Given the description of an element on the screen output the (x, y) to click on. 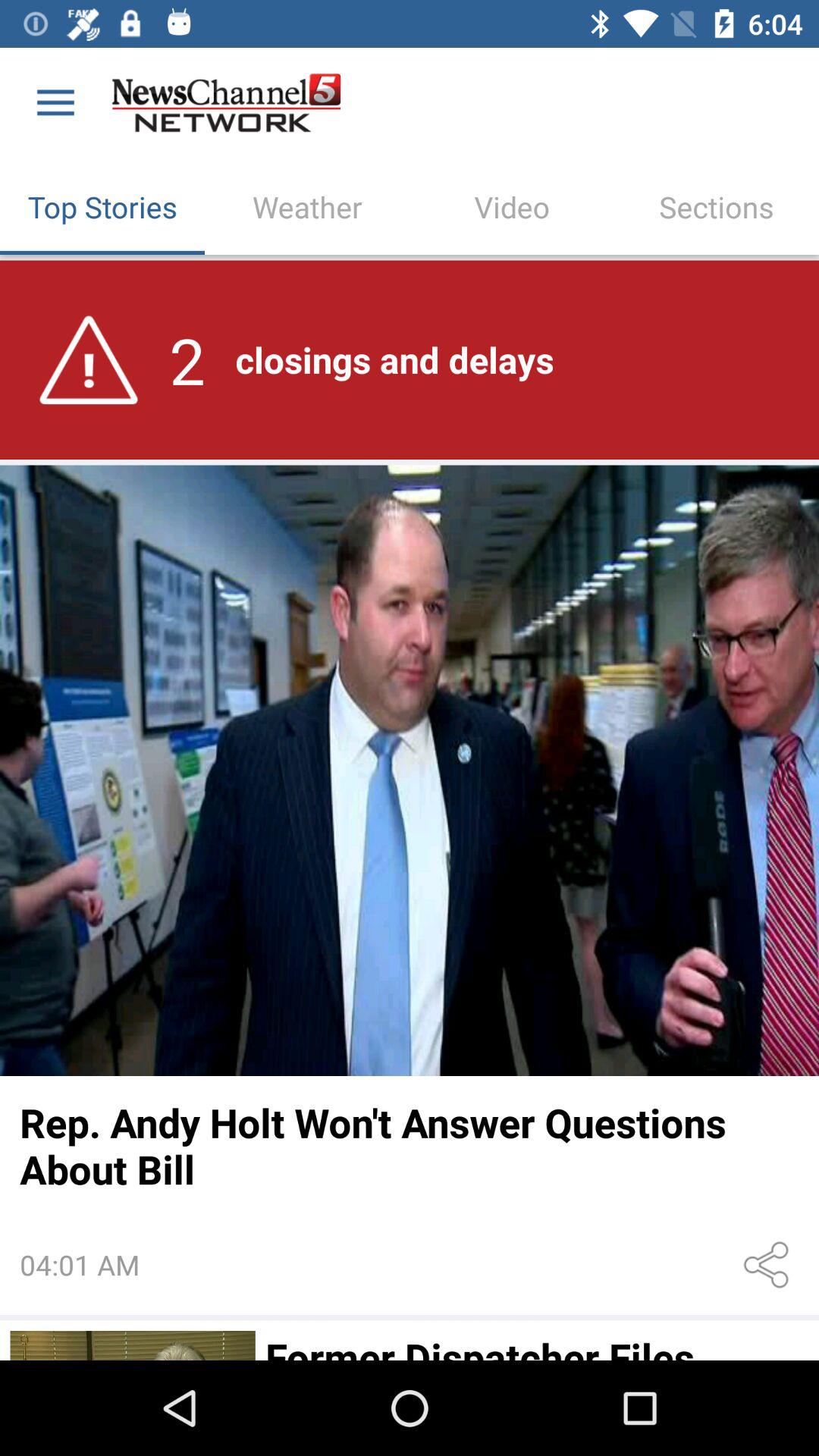
go to article (132, 1345)
